Given the description of an element on the screen output the (x, y) to click on. 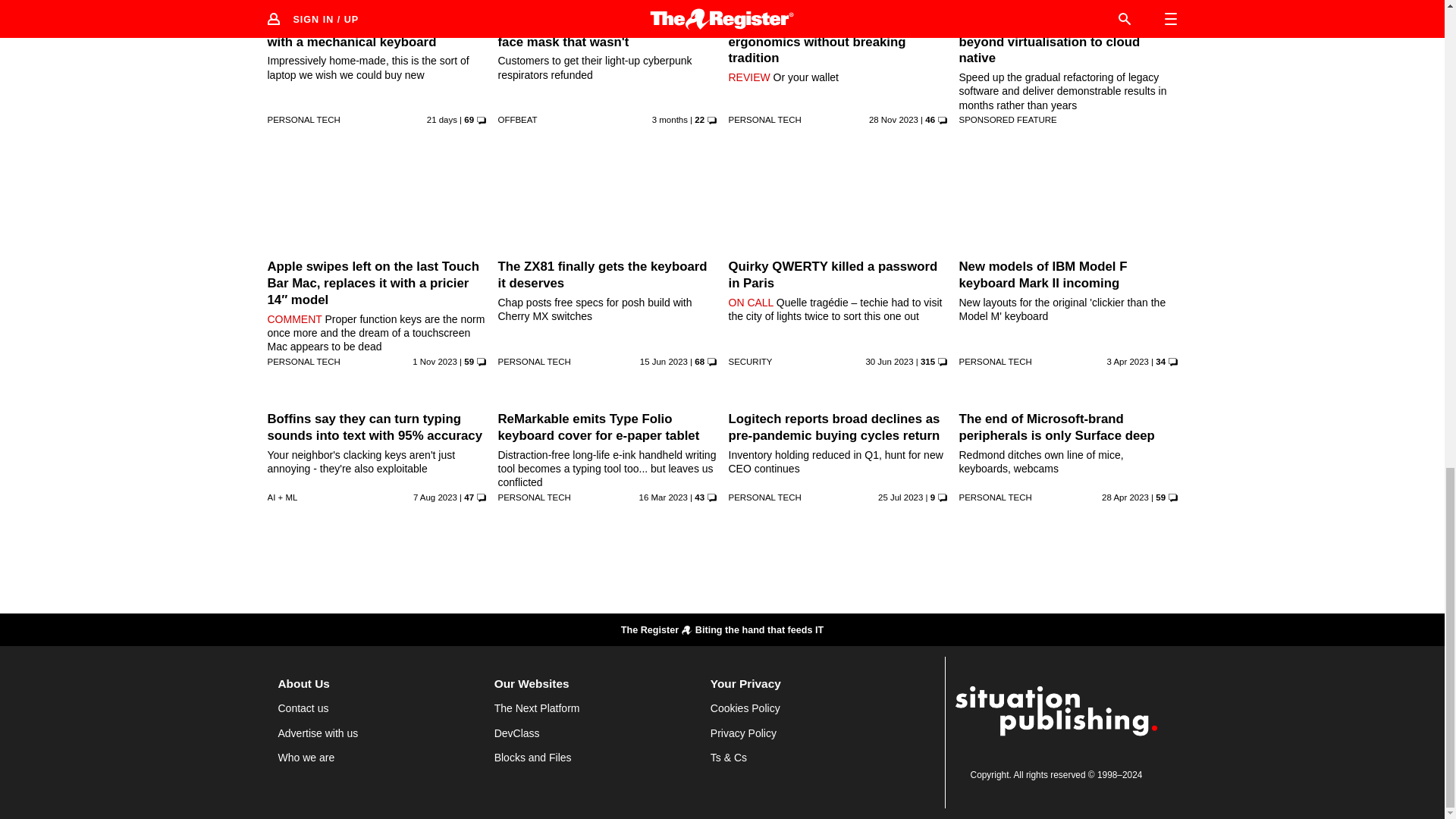
15 Jun 2023 6:58 (663, 361)
22 Jul 2024 11:15 (441, 119)
30 Apr 2024 15:0 (669, 119)
1 Nov 2023 0:57 (434, 361)
30 Jun 2023 7:27 (888, 361)
28 Nov 2023 9:30 (893, 119)
16 Mar 2023 16:31 (663, 497)
7 Aug 2023 20:34 (435, 497)
3 Apr 2023 19:3 (1127, 361)
